Given the description of an element on the screen output the (x, y) to click on. 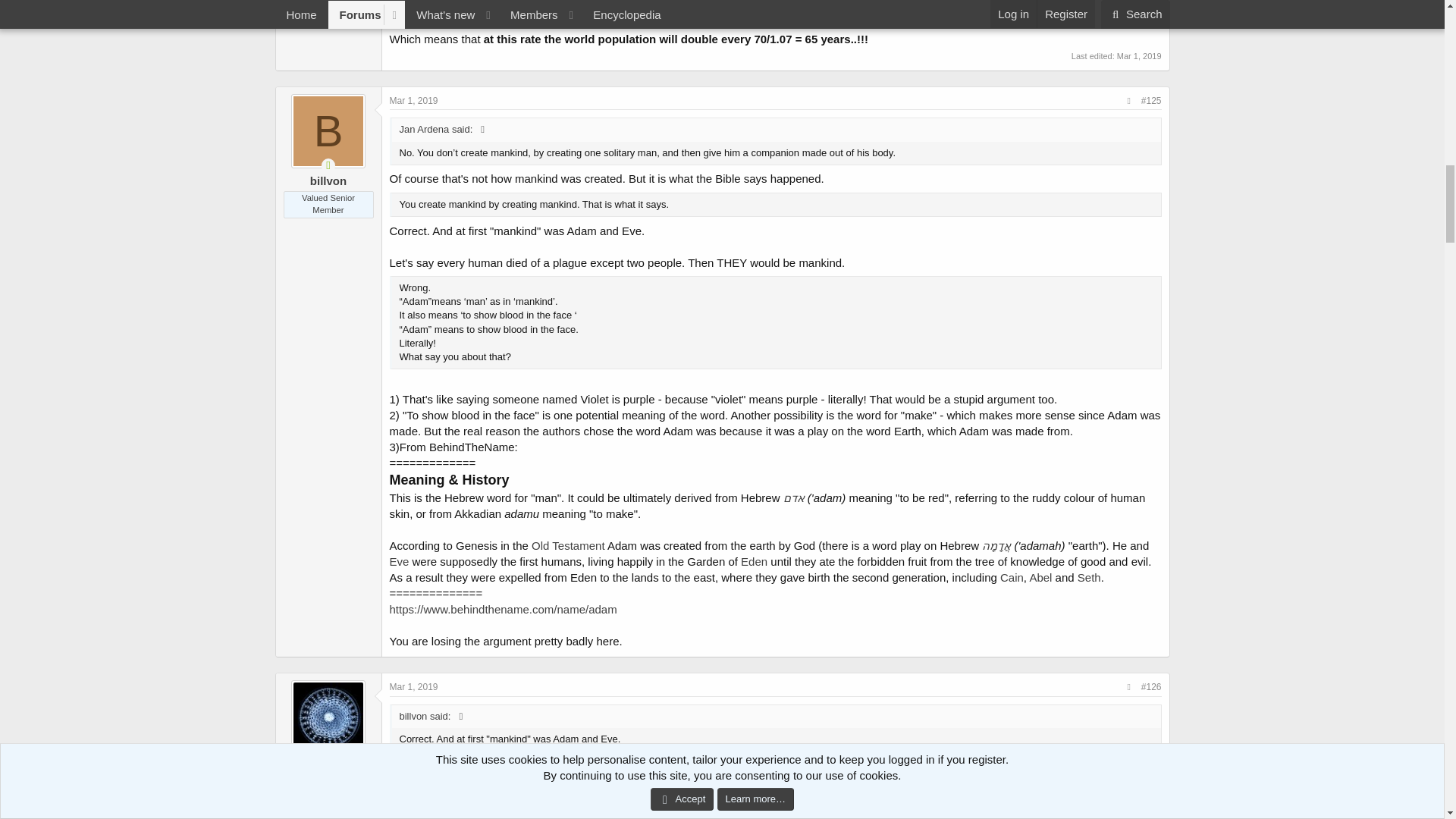
Mar 1, 2019 at 7:06 PM (1138, 55)
Mar 1, 2019 at 7:00 PM (414, 100)
